Given the description of an element on the screen output the (x, y) to click on. 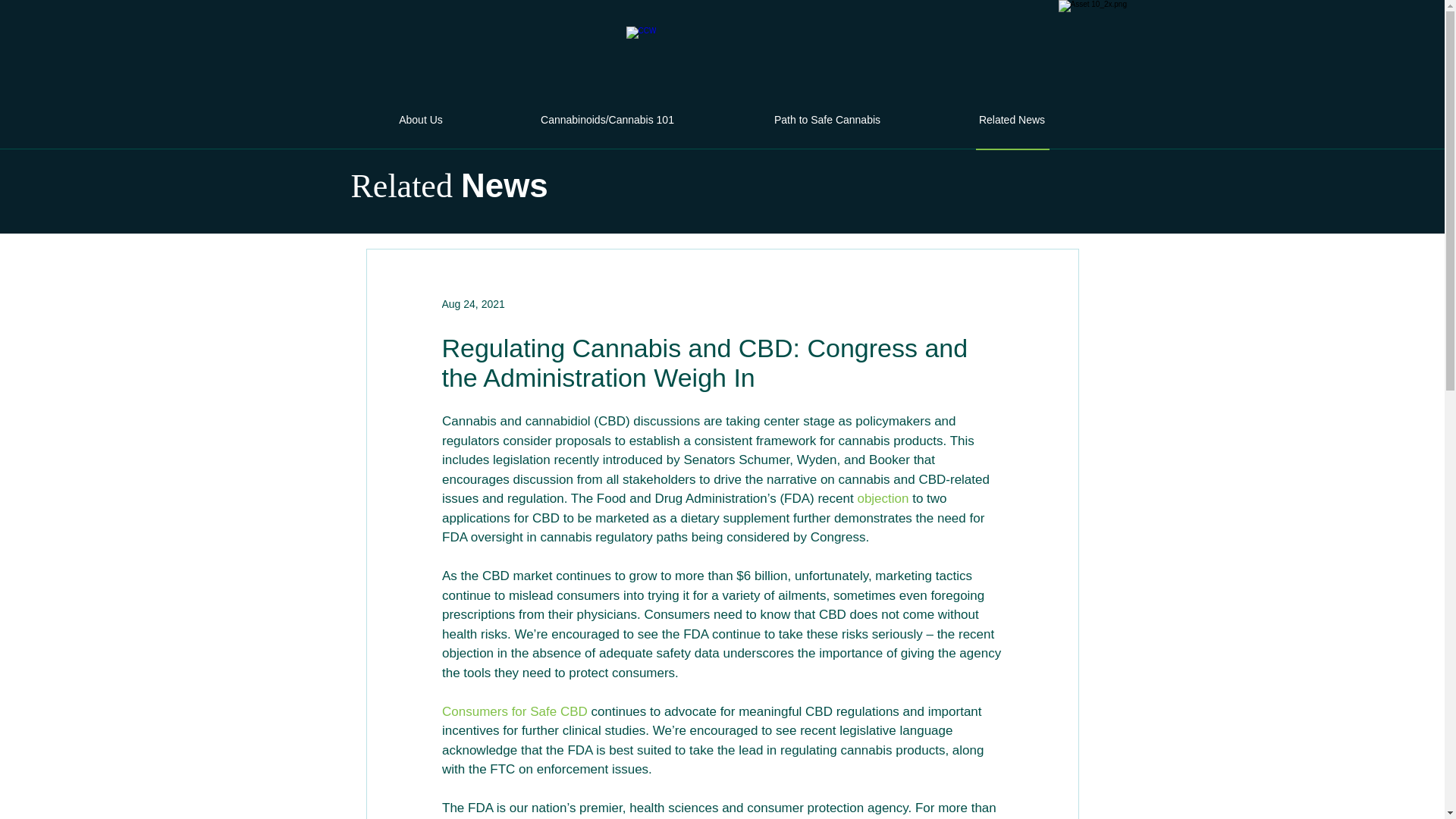
About Us (420, 120)
objection (882, 498)
Related News (1012, 120)
Path to Safe Cannabis (826, 120)
Aug 24, 2021 (472, 303)
Consumers for Safe CBD (513, 710)
